Given the description of an element on the screen output the (x, y) to click on. 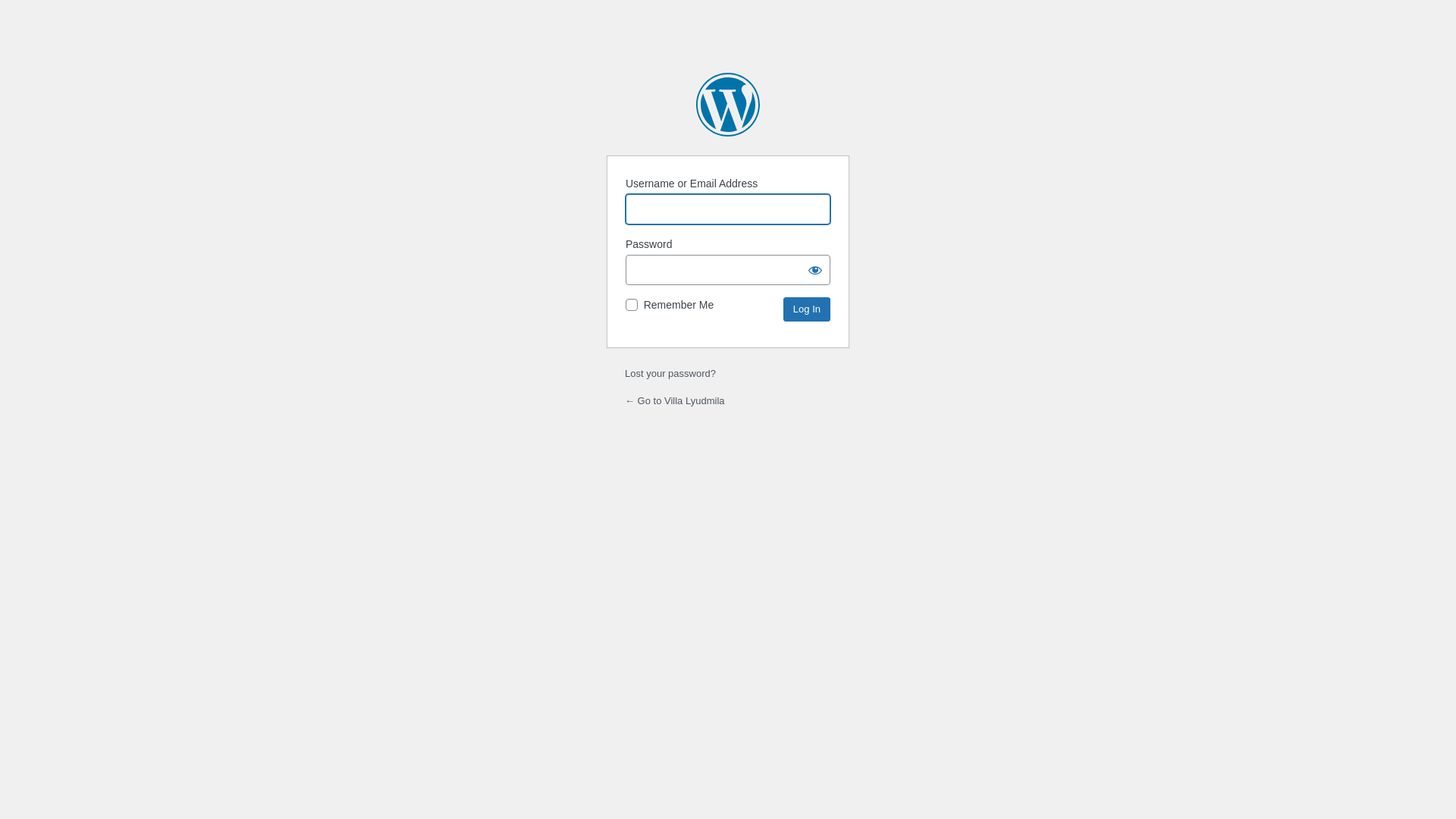
Log In Element type: text (806, 309)
Lost your password? Element type: text (669, 373)
Powered by WordPress Element type: text (727, 104)
